Given the description of an element on the screen output the (x, y) to click on. 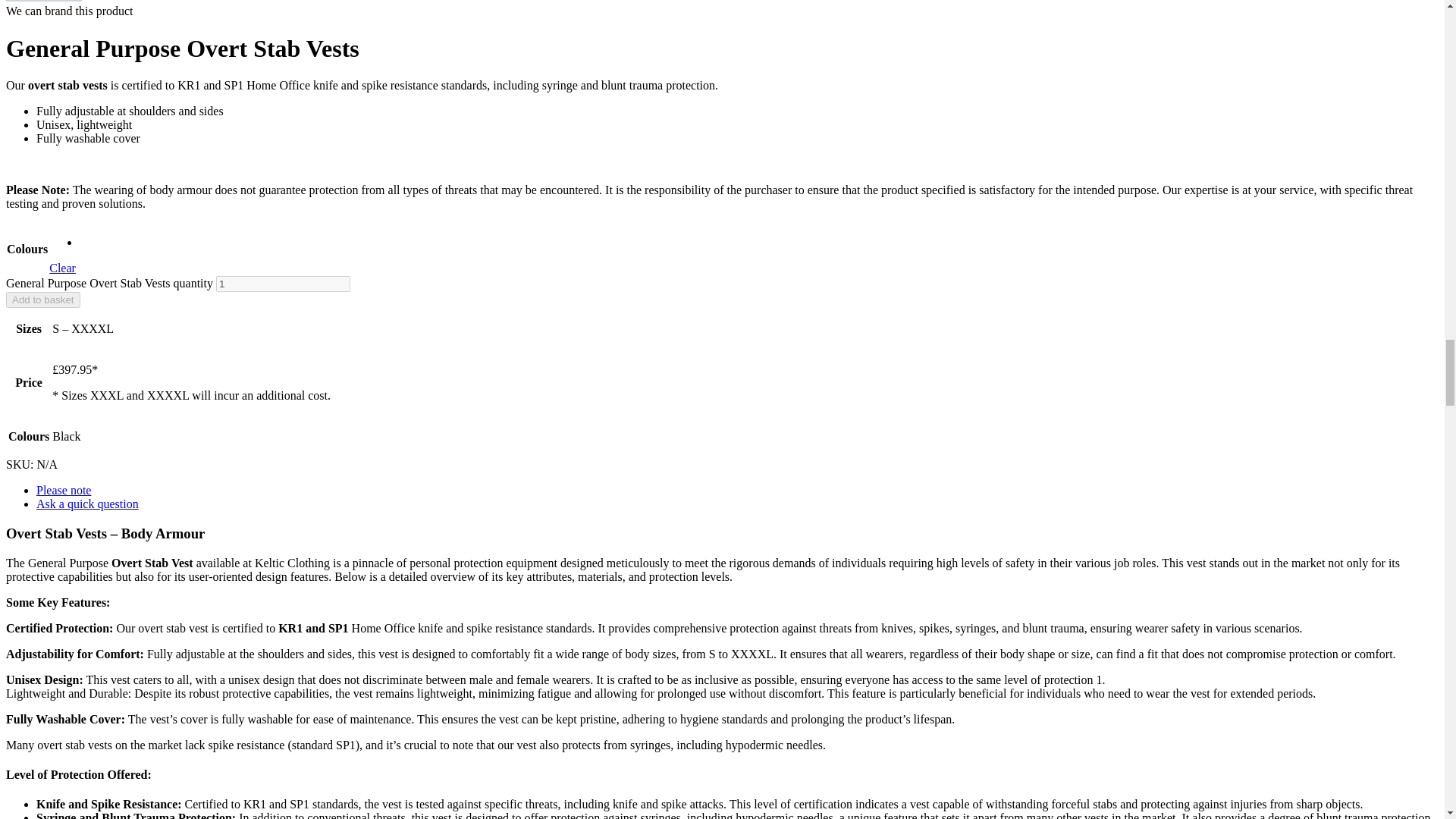
General purpose overt stab vests (43, 0)
Black (82, 242)
1 (282, 283)
